Given the description of an element on the screen output the (x, y) to click on. 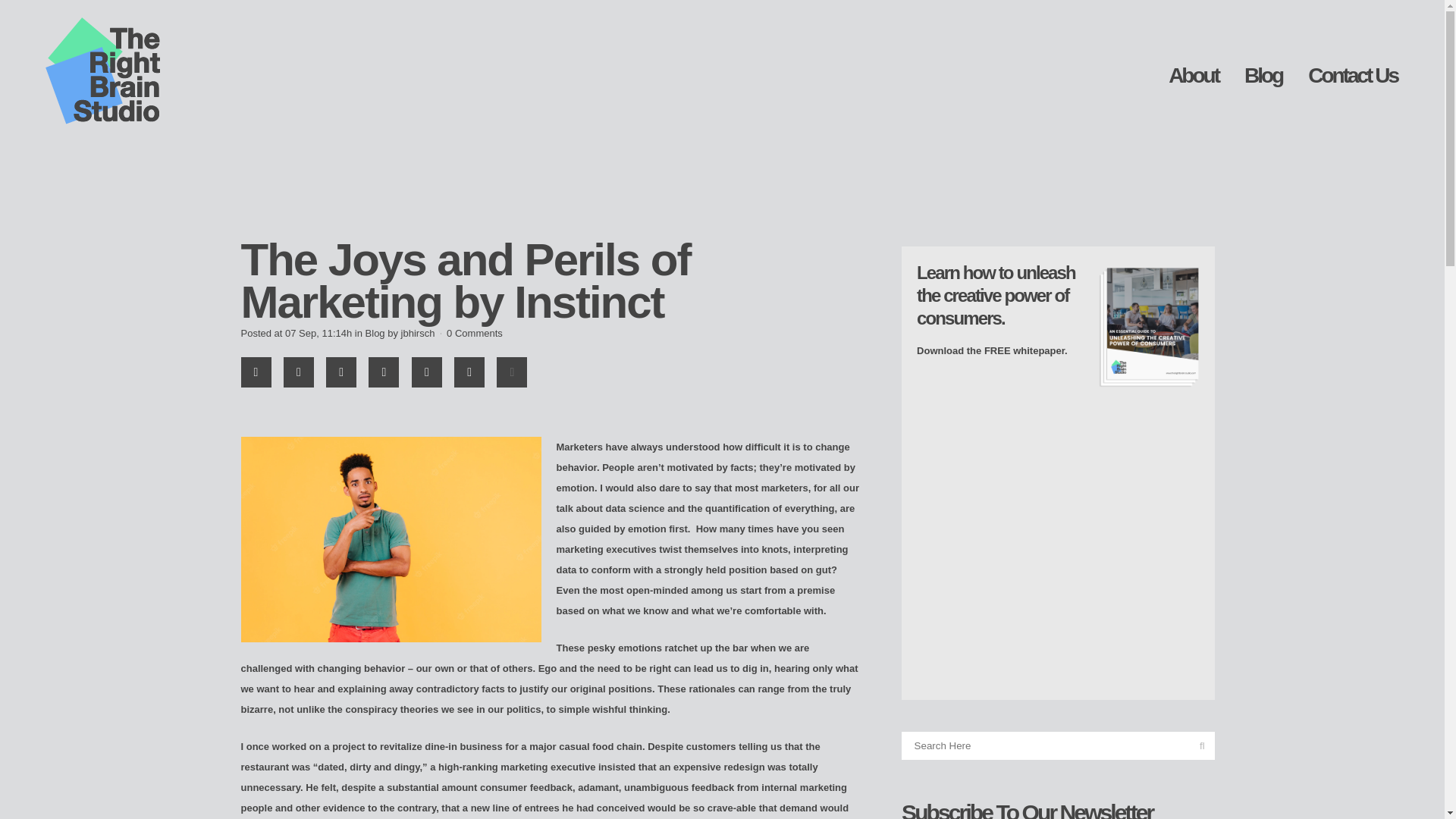
Blog (375, 333)
jbhirsch (418, 333)
0 Comments (474, 333)
Form 0 (1058, 539)
